Given the description of an element on the screen output the (x, y) to click on. 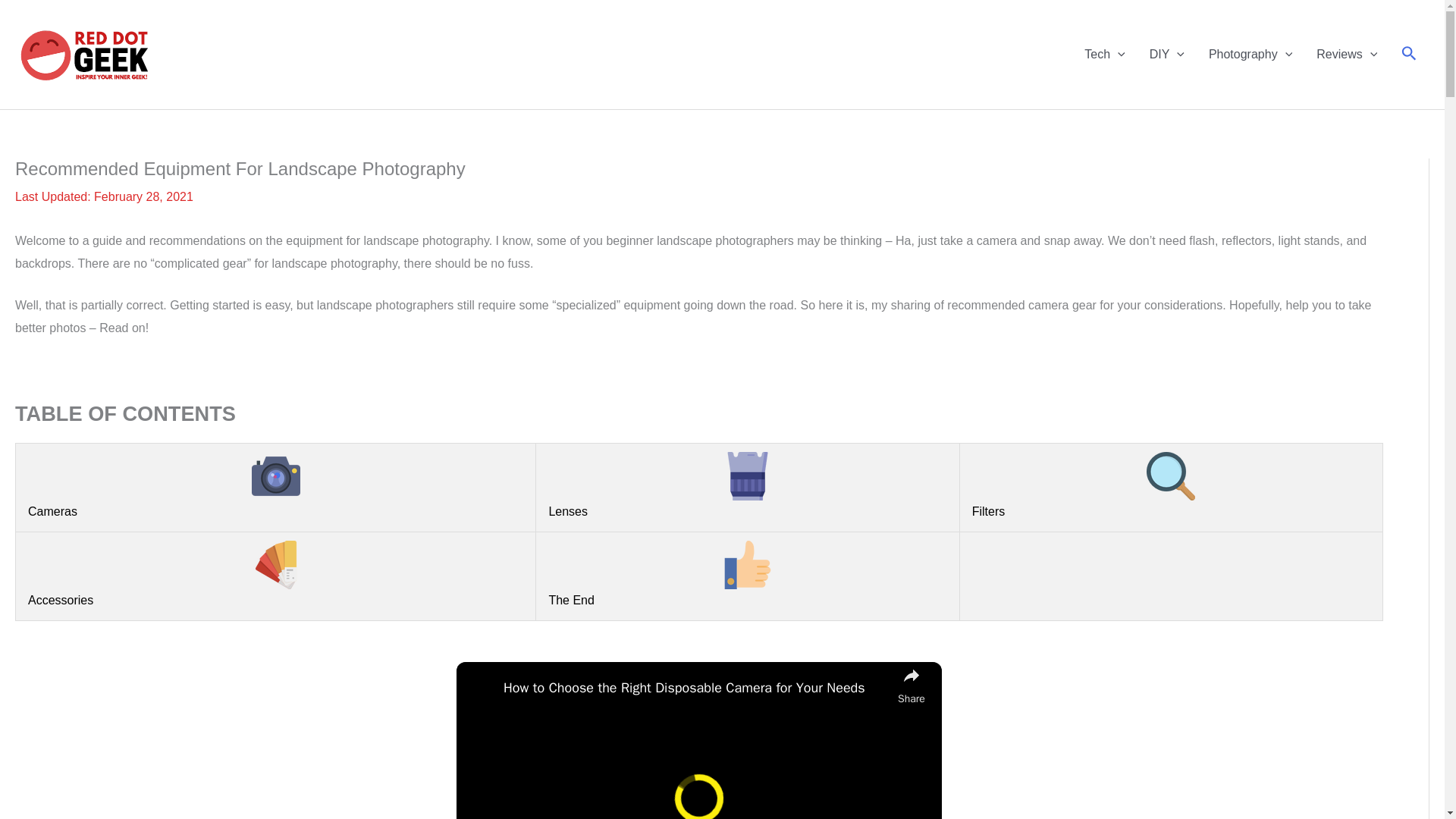
Tech (1104, 54)
How to Choose the Right Disposable Camera for Your Needs (696, 688)
Photography (1250, 54)
Accessories (274, 573)
The End (747, 573)
Filters (1171, 484)
Reviews (1346, 54)
Lenses (747, 484)
DIY (1166, 54)
Cameras (274, 484)
